Given the description of an element on the screen output the (x, y) to click on. 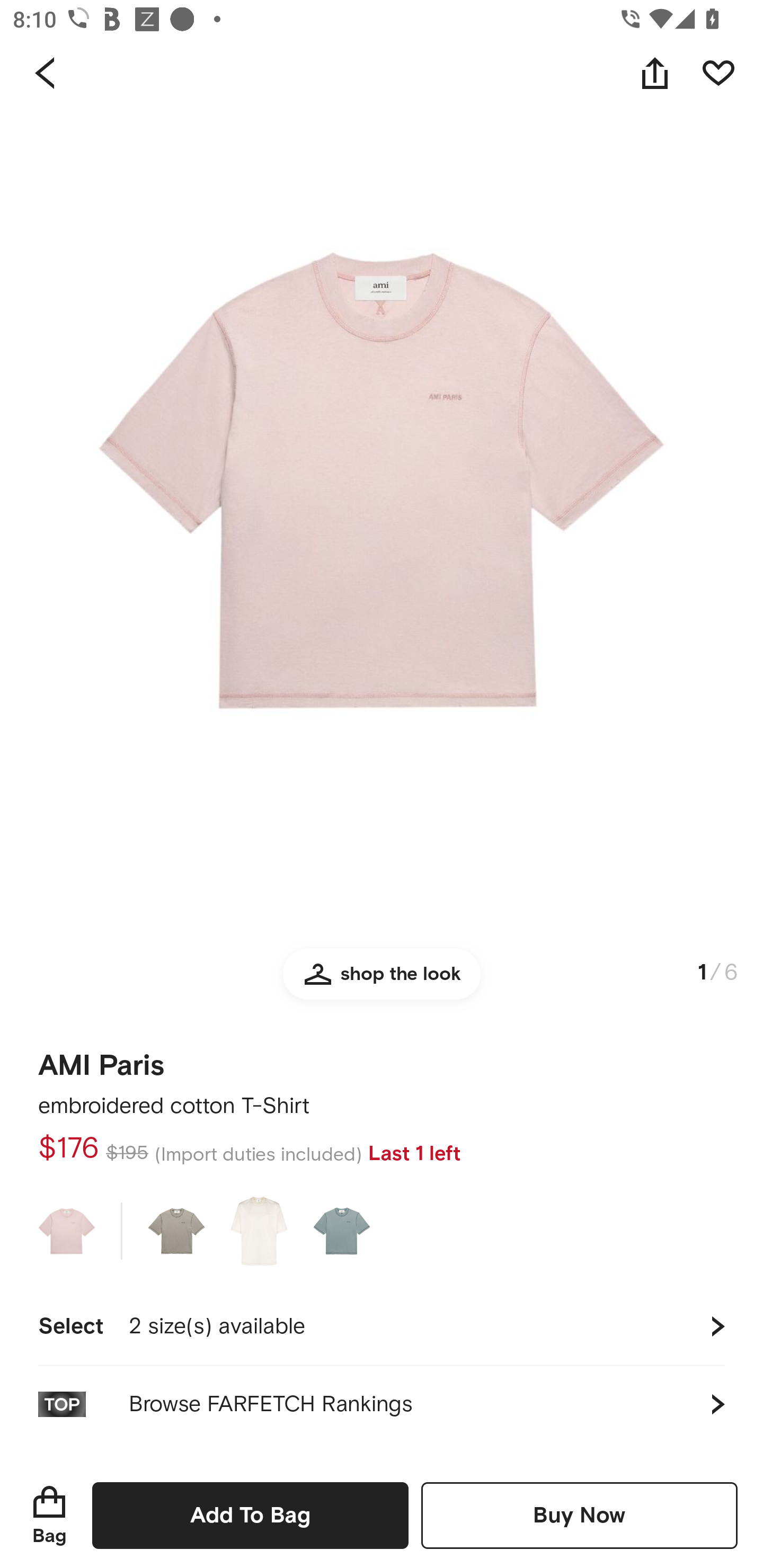
shop the look (381, 982)
AMI Paris (101, 1059)
Select 2 size(s) available (381, 1326)
Browse FARFETCH Rankings (381, 1403)
Bag (49, 1515)
Add To Bag (250, 1515)
Buy Now (579, 1515)
